Given the description of an element on the screen output the (x, y) to click on. 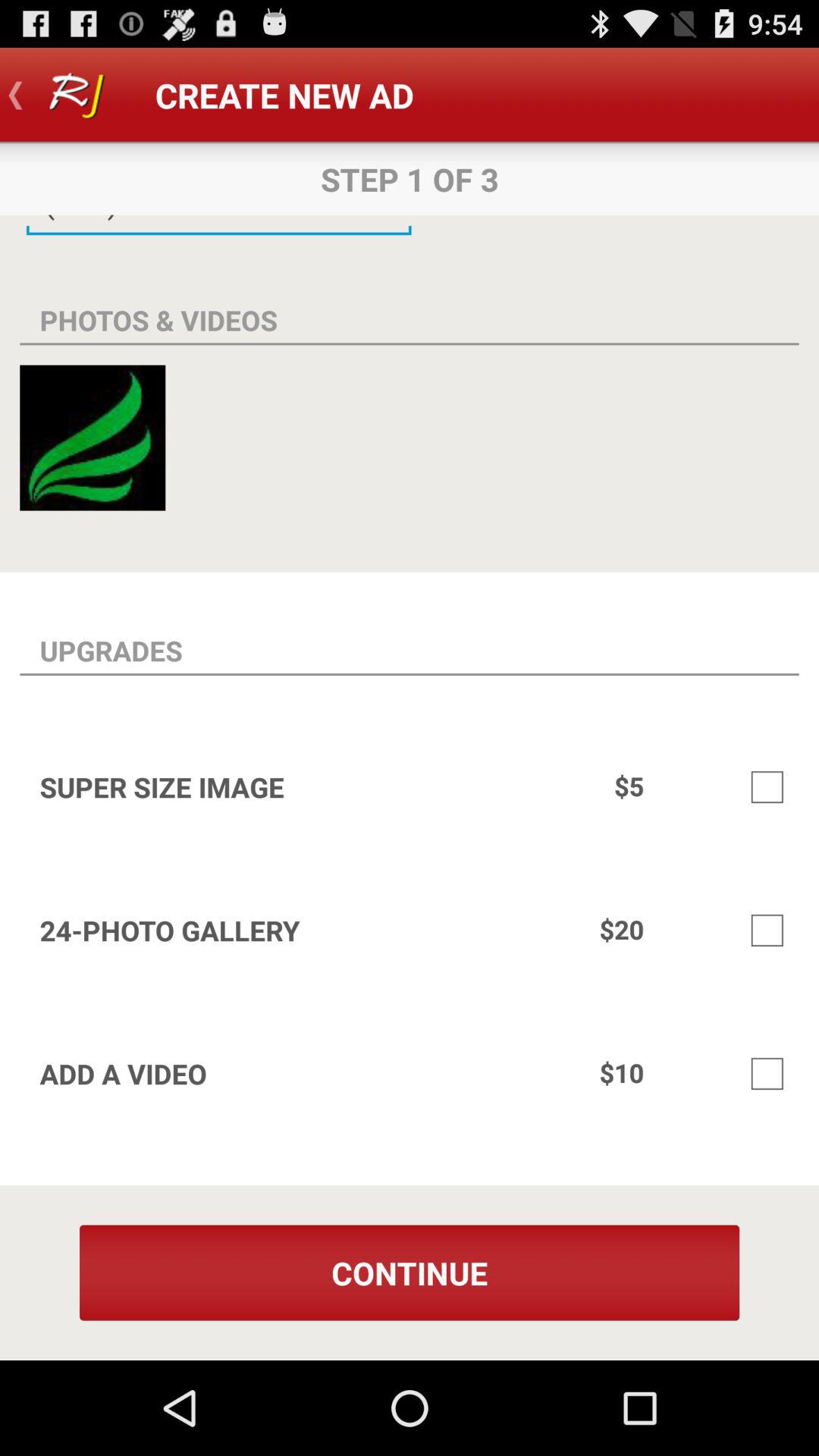
click to add video (767, 1073)
